Given the description of an element on the screen output the (x, y) to click on. 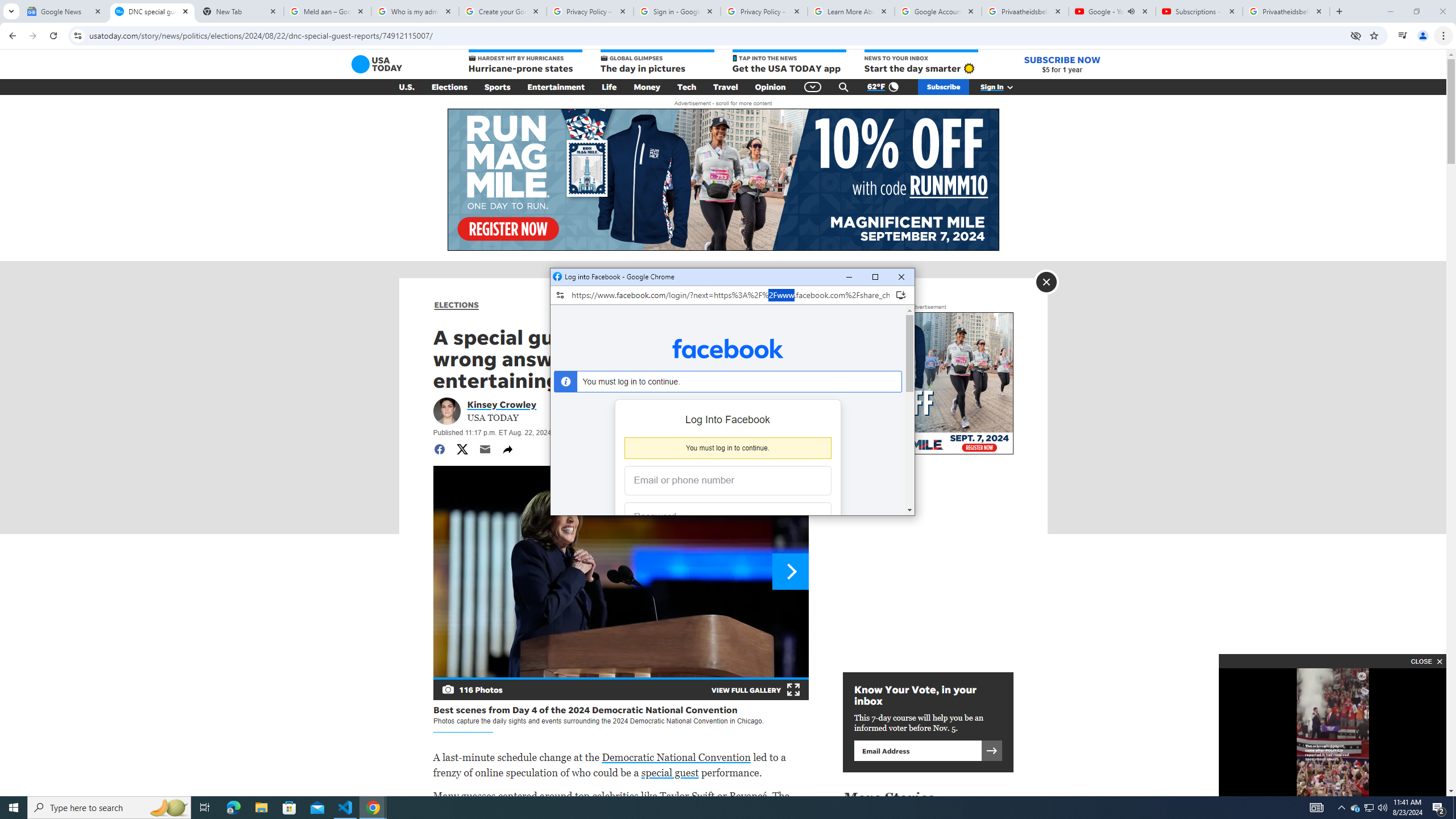
Entertainment (556, 87)
Portrait of Kinsey Crowley Kinsey Crowley (502, 404)
Type here to search (108, 807)
Taylor Swift (686, 795)
